Given the description of an element on the screen output the (x, y) to click on. 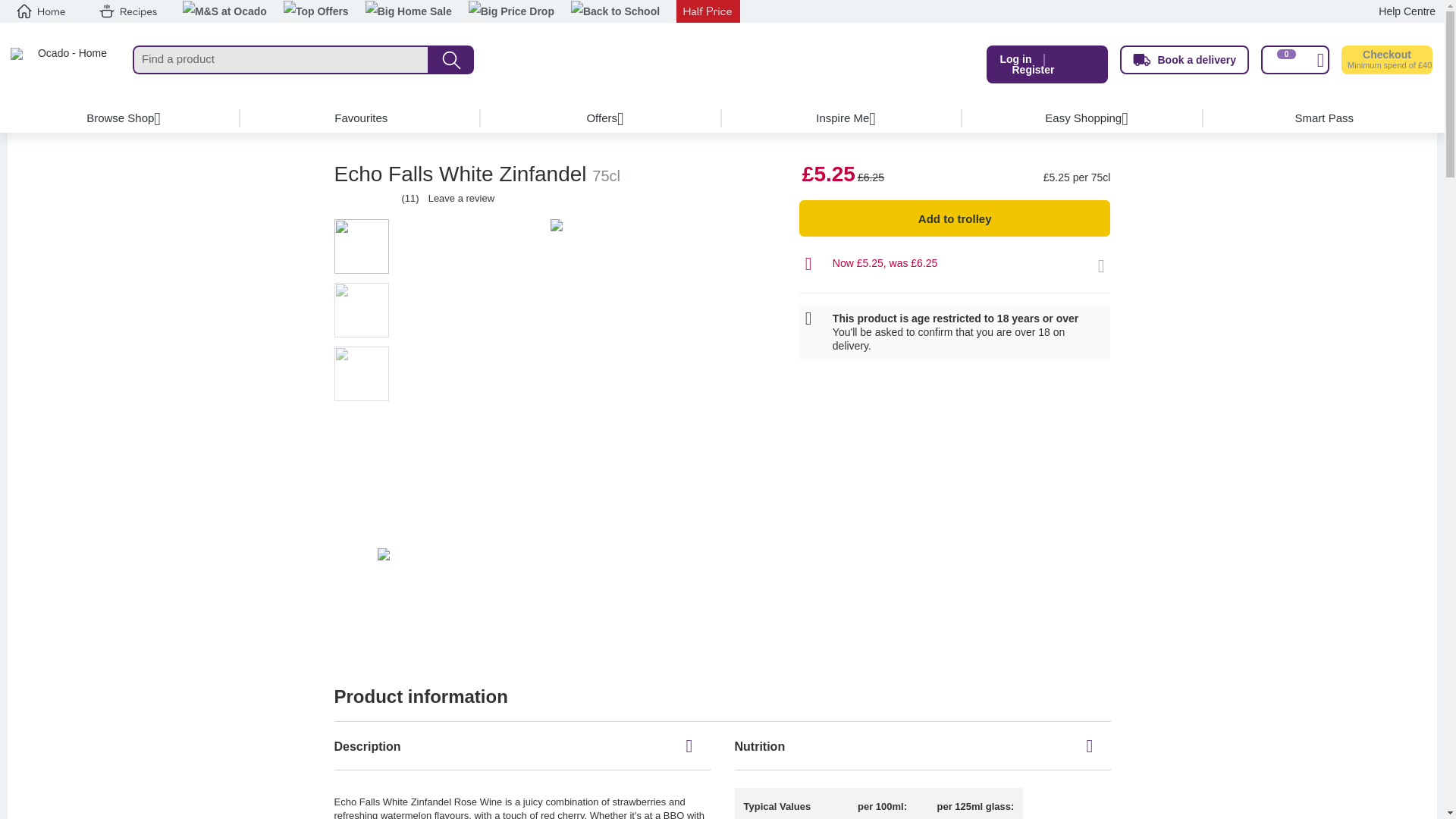
Big Price Drop (511, 11)
0 (1294, 59)
Easy Shopping (1083, 118)
Inspire Me (842, 118)
Find a product (280, 59)
Reviews 3.4 of 5 (355, 198)
Favourites (361, 118)
Recipes (127, 11)
Back to School (614, 11)
Add to trolley (954, 217)
